Given the description of an element on the screen output the (x, y) to click on. 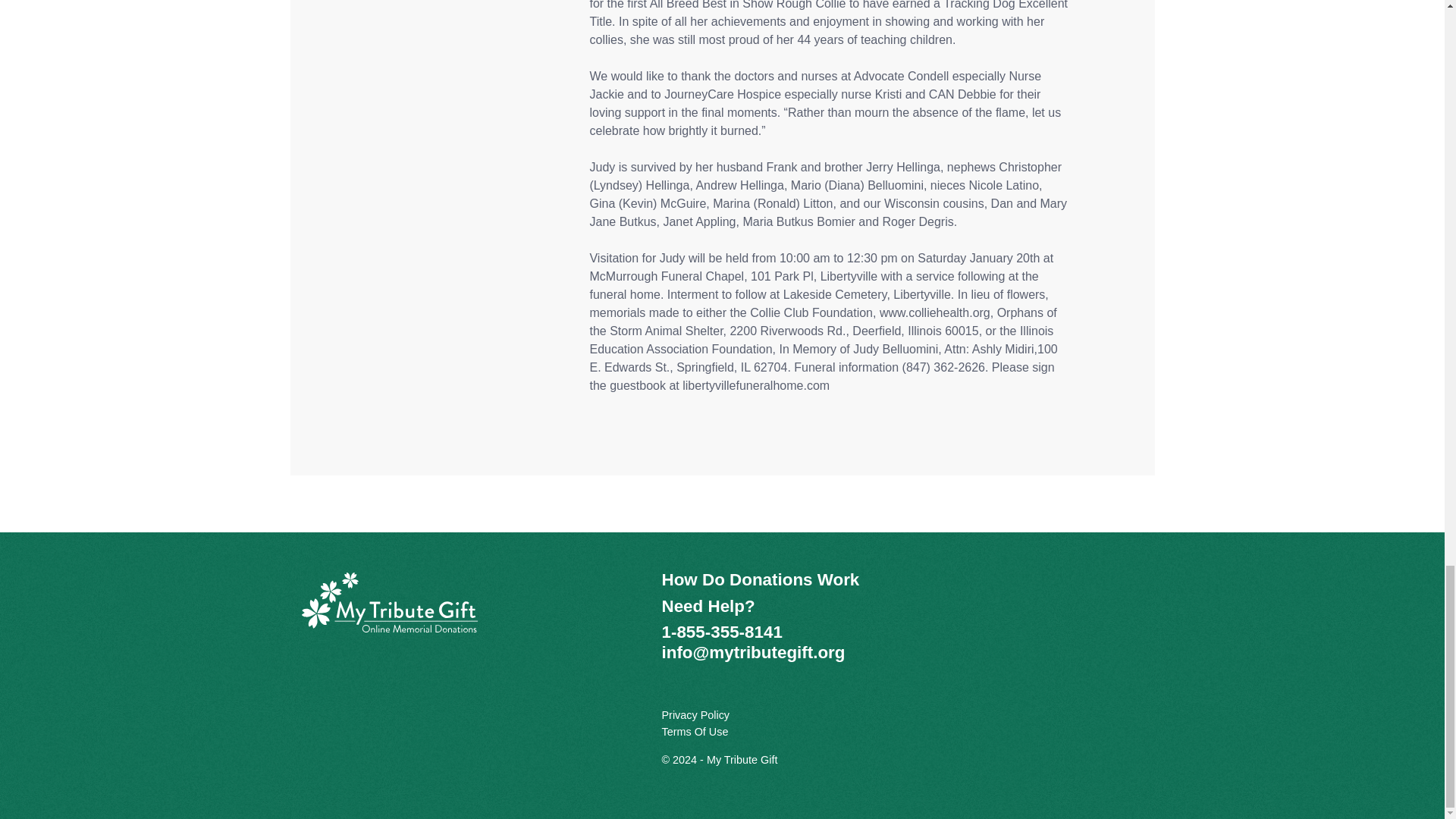
How Do Donations Work (760, 579)
Privacy Policy (695, 715)
1-855-355-8141 (721, 631)
Terms Of Use (694, 731)
